Given the description of an element on the screen output the (x, y) to click on. 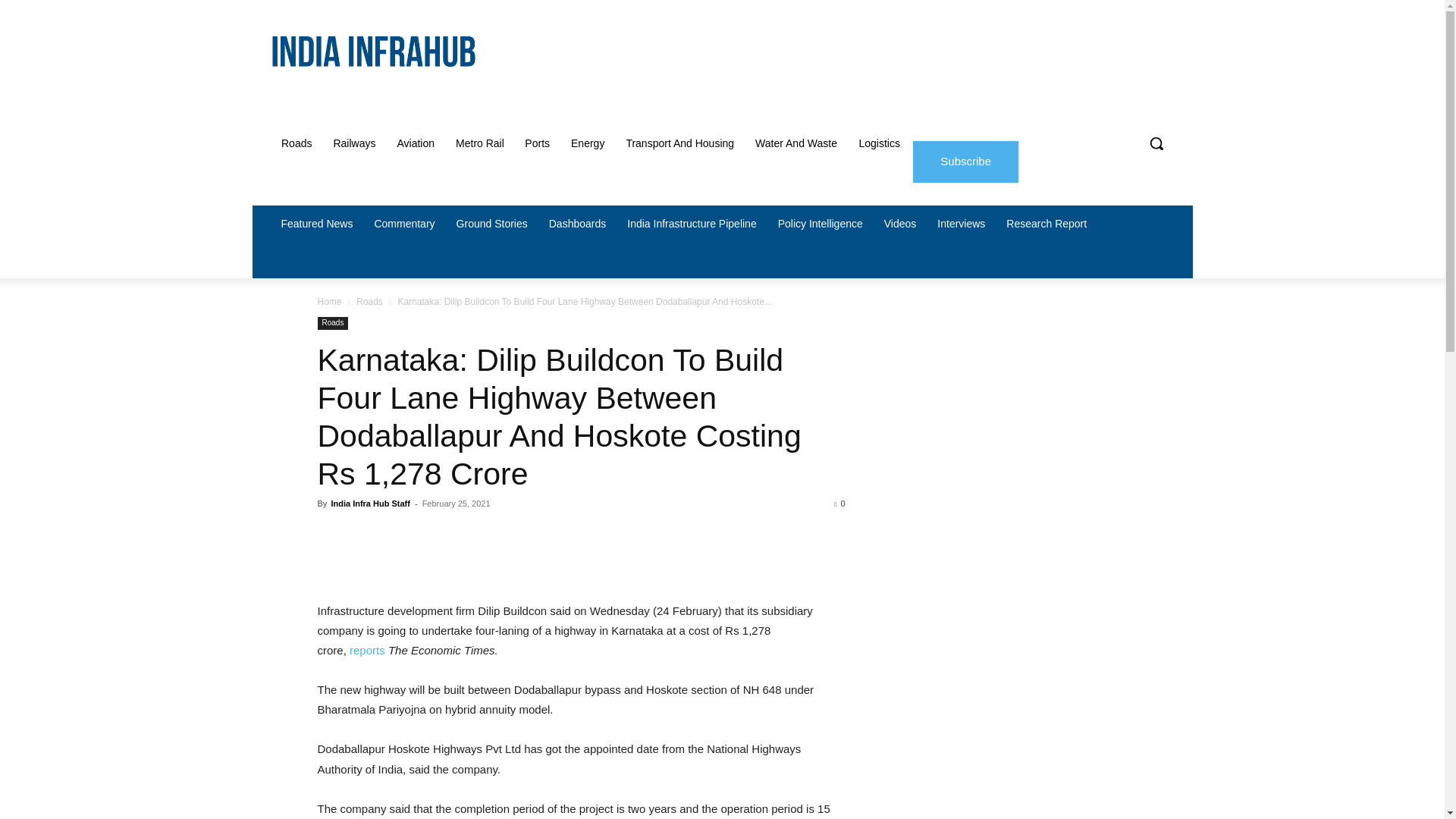
Subscribe (964, 161)
Metro Rail (480, 143)
Logistics (878, 143)
India Infrastructure Pipeline (691, 223)
Dashboards (577, 223)
Policy Intelligence (820, 223)
View all posts in Roads (369, 301)
Ground Stories (491, 223)
Roads (295, 143)
Transport And Housing (679, 143)
